Given the description of an element on the screen output the (x, y) to click on. 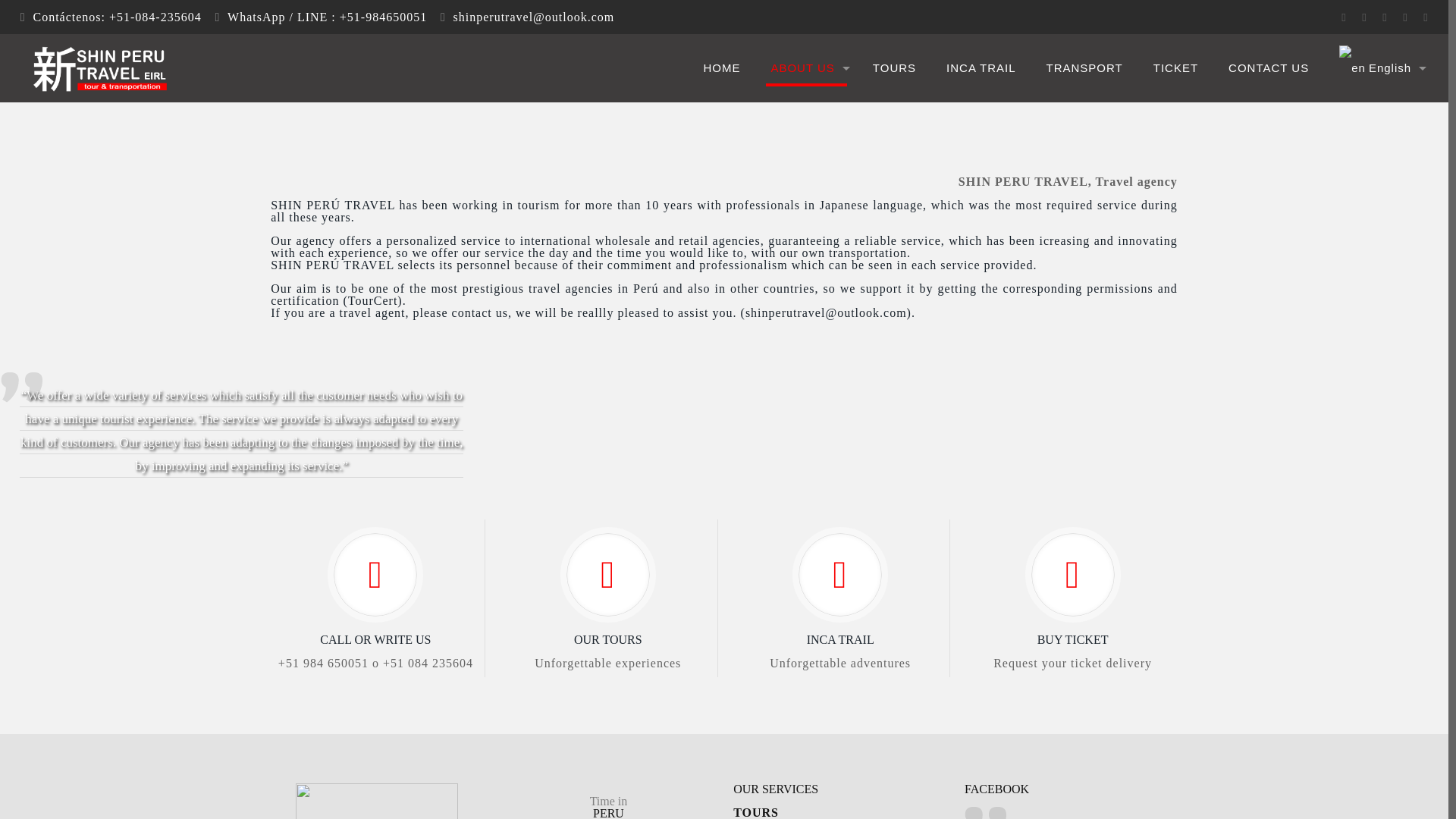
YouTube (1385, 17)
HOME (721, 68)
TRANSPORT (1084, 68)
Twitter (1364, 17)
Facebook (1344, 17)
Instagram (1405, 17)
English (1378, 68)
TOURS (608, 806)
CONTACT US (894, 68)
